Given the description of an element on the screen output the (x, y) to click on. 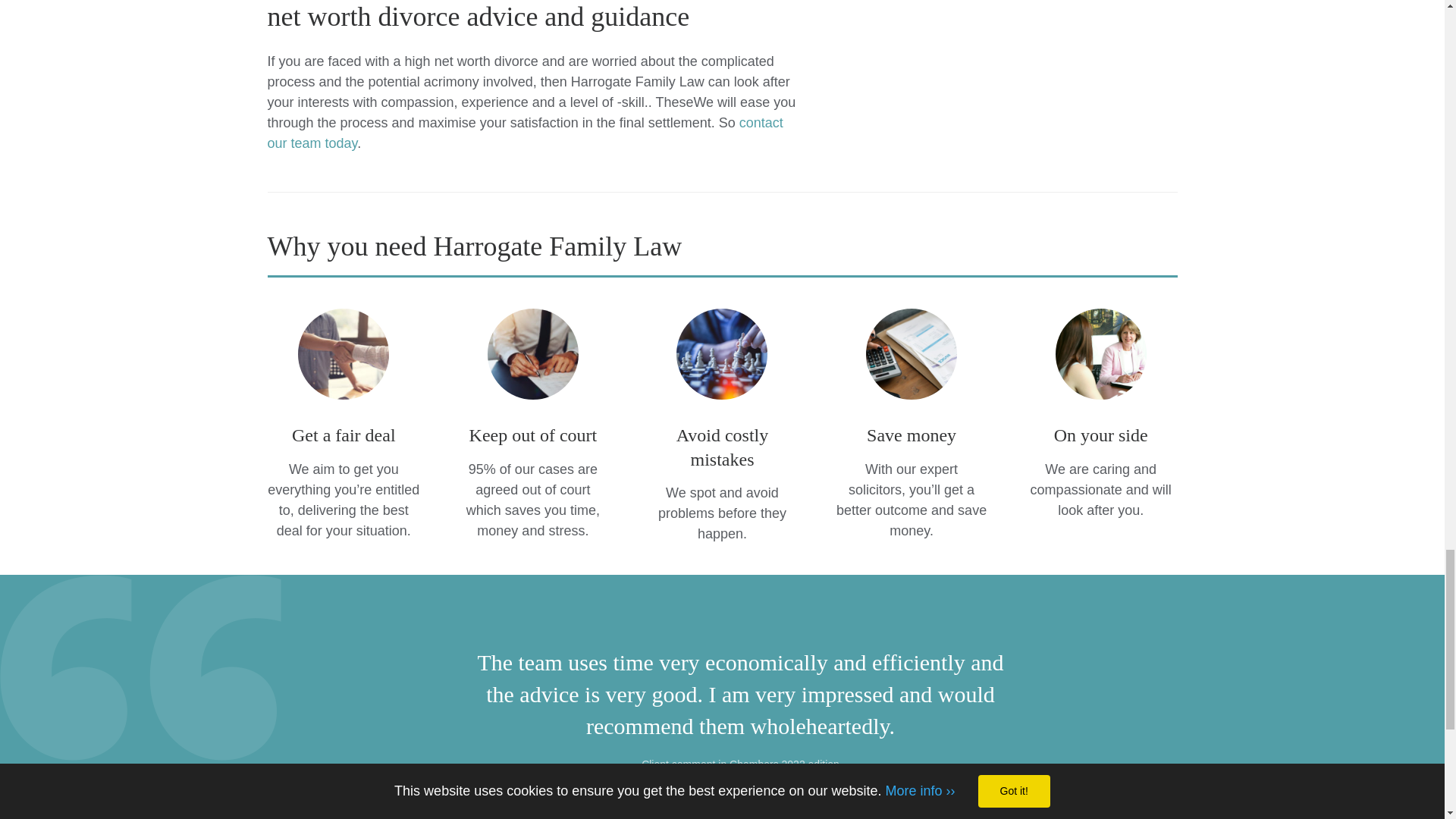
Chess game (722, 353)
Doing maths (911, 353)
The Harrogate Family Law team (1101, 353)
